Given the description of an element on the screen output the (x, y) to click on. 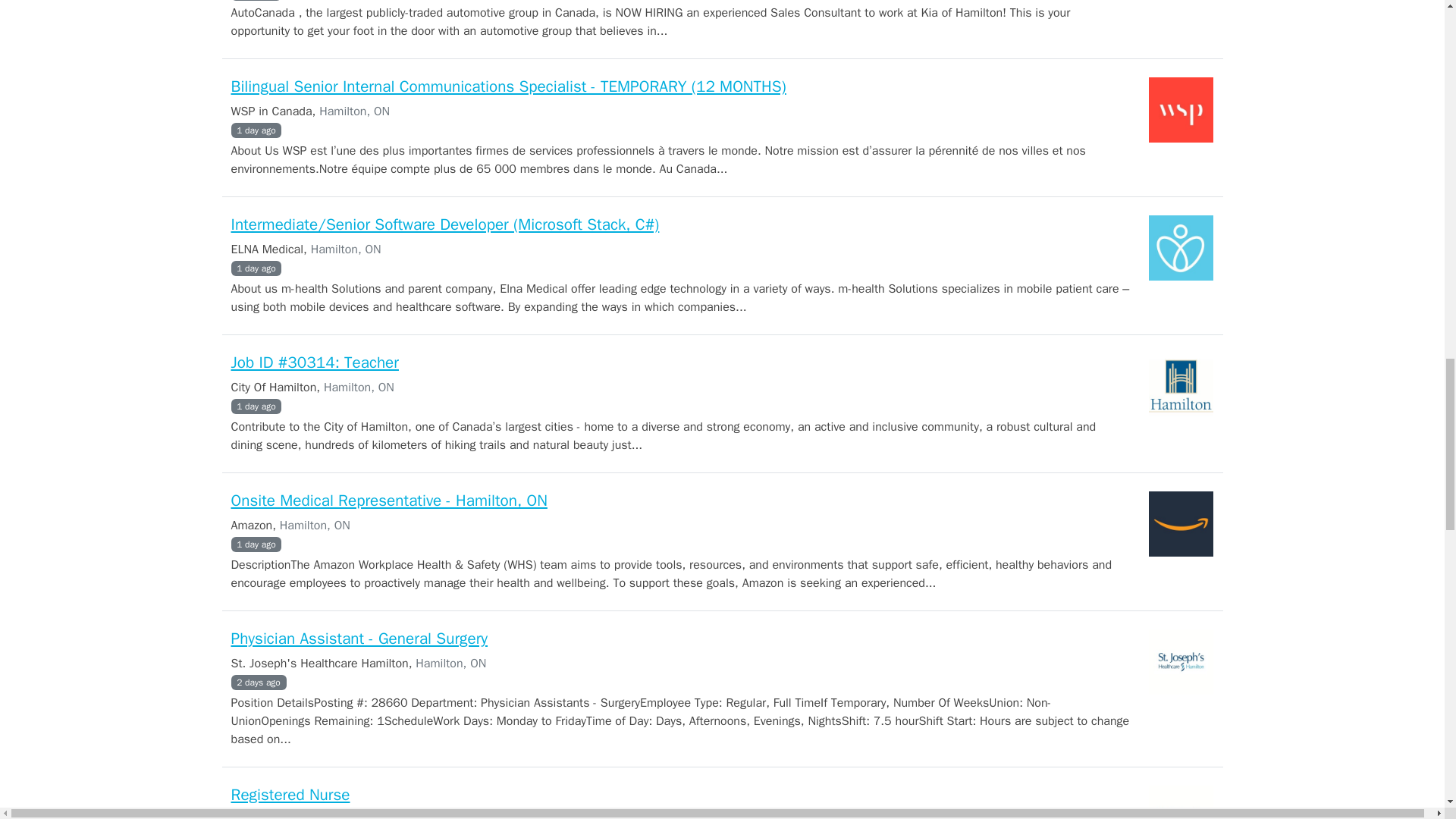
Registered Nurse (289, 794)
Onsite Medical Representative - Hamilton, ON (388, 500)
Physician Assistant - General Surgery (358, 638)
